Given the description of an element on the screen output the (x, y) to click on. 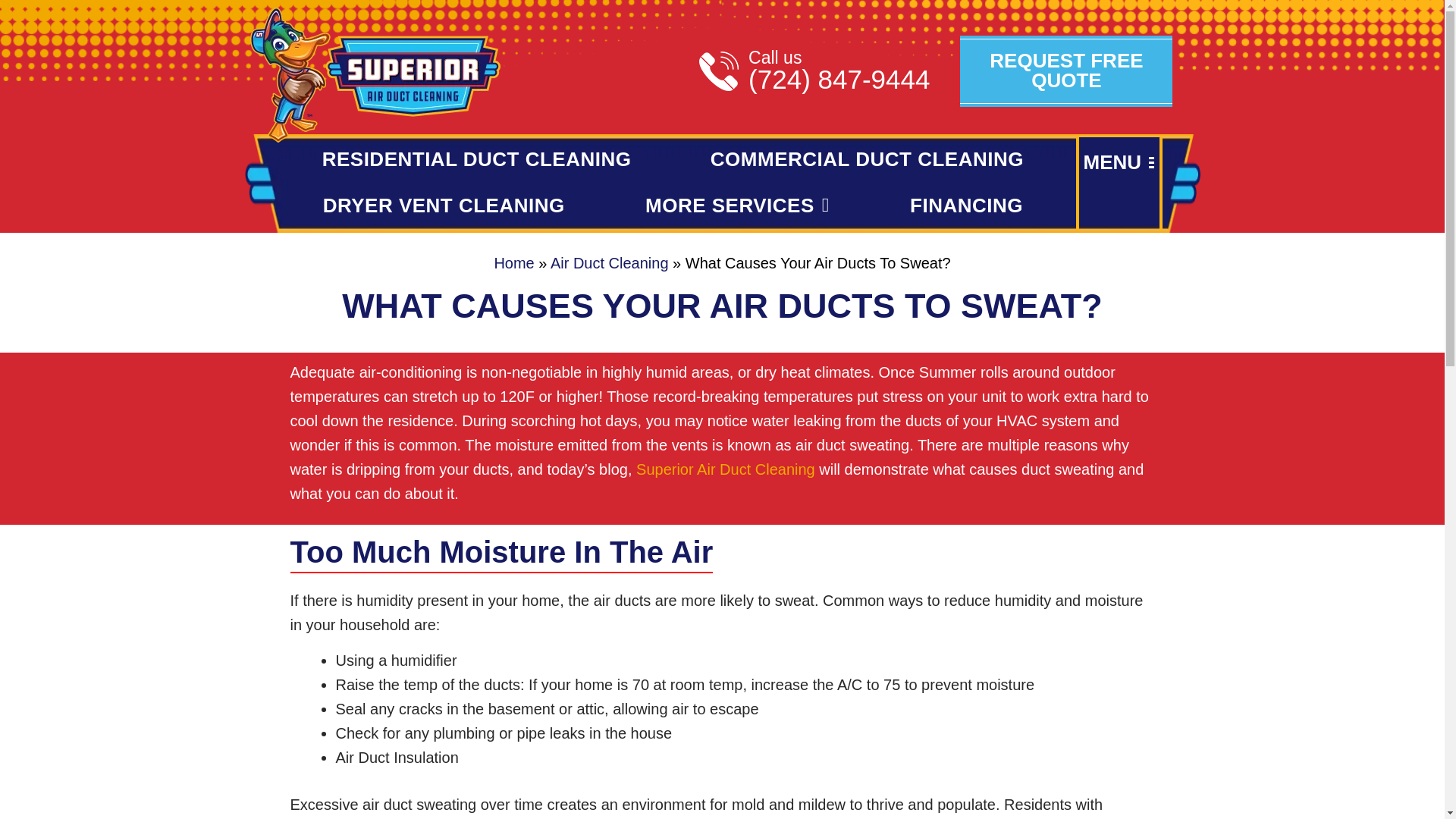
Air Duct Cleaning (609, 262)
RESIDENTIAL DUCT CLEANING (475, 158)
Superior Air Duct Cleaning (725, 469)
REQUEST FREE QUOTE (1065, 71)
DRYER VENT CLEANING (443, 205)
MORE SERVICES (737, 205)
Home (513, 262)
FINANCING (965, 205)
COMMERCIAL DUCT CLEANING (866, 158)
